Given the description of an element on the screen output the (x, y) to click on. 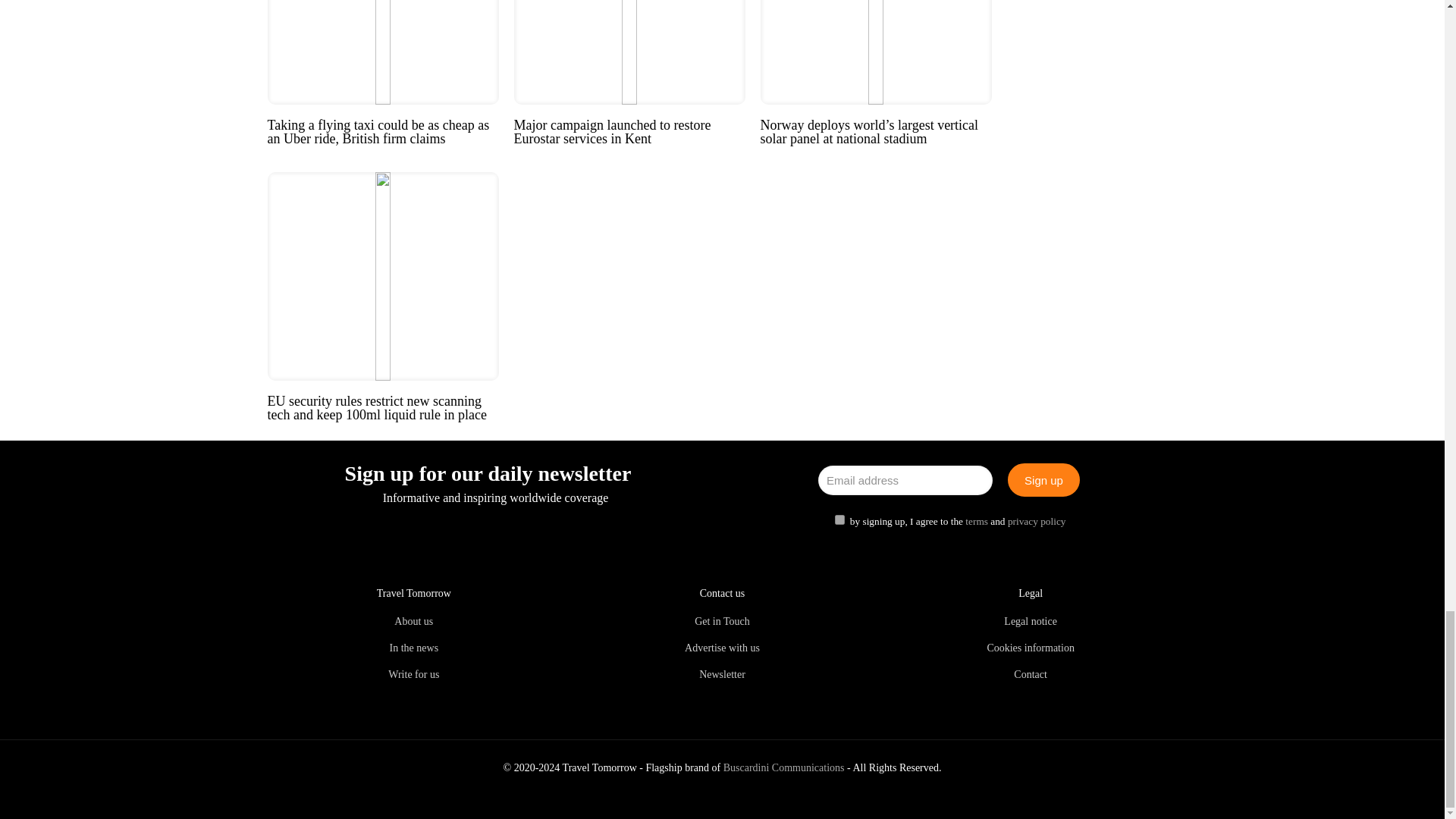
Sign up (1043, 479)
1 (839, 519)
